Given the description of an element on the screen output the (x, y) to click on. 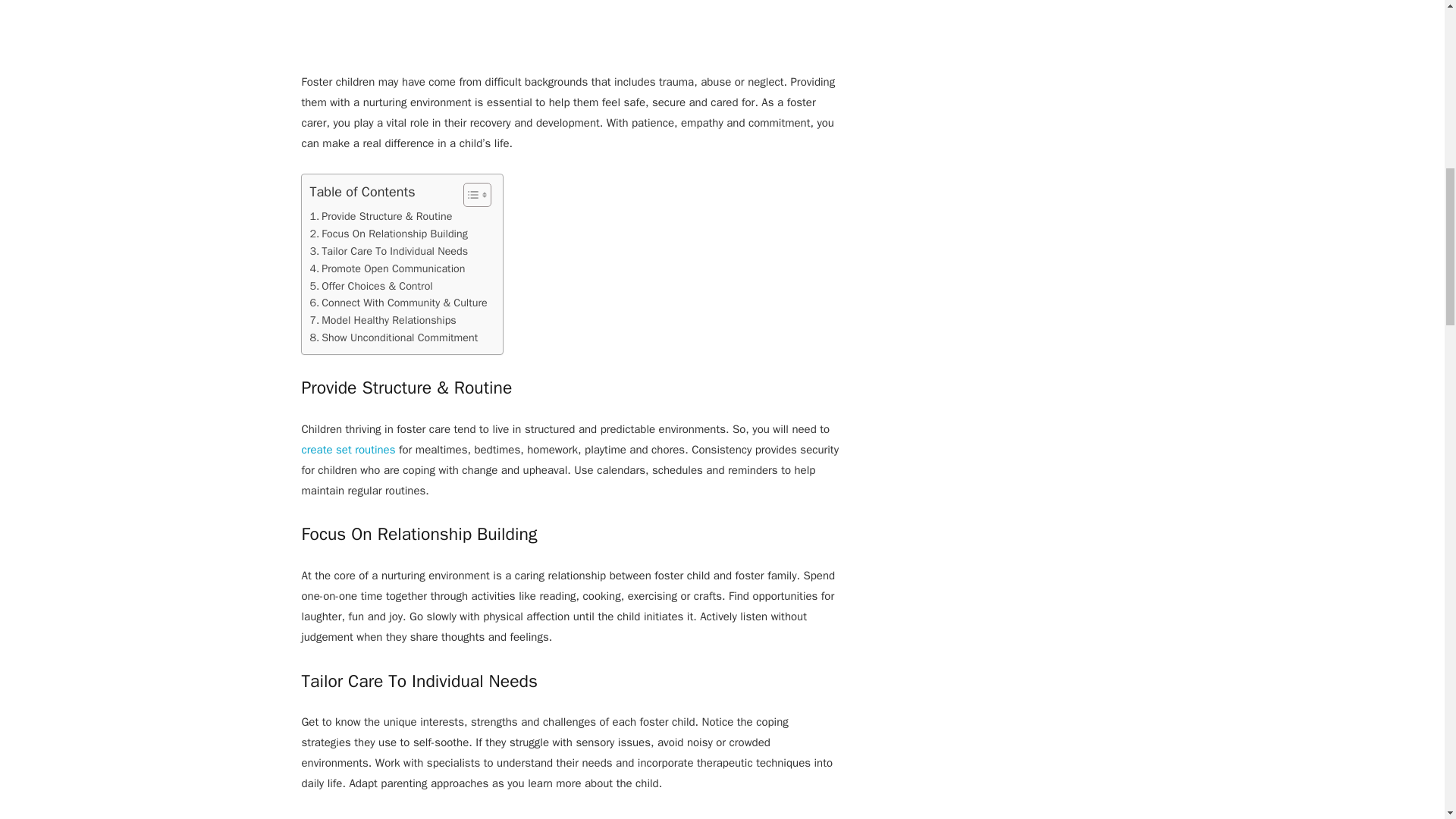
Tailor Care To Individual Needs (387, 251)
Advertisement (570, 36)
Model Healthy Relationships (381, 320)
Focus On Relationship Building (387, 233)
Show Unconditional Commitment (392, 337)
Promote Open Communication (386, 268)
